Given the description of an element on the screen output the (x, y) to click on. 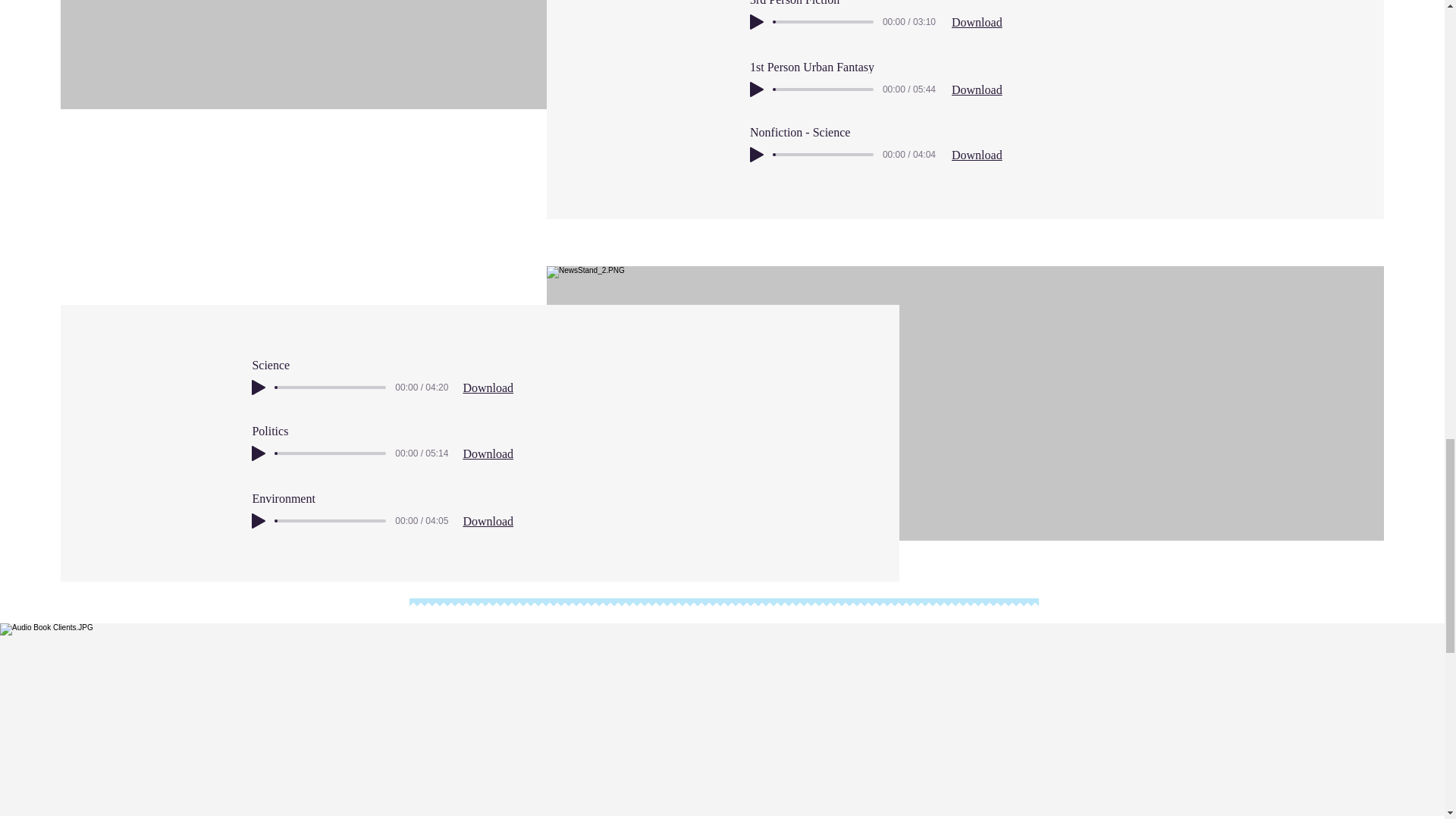
0 (823, 154)
0 (823, 21)
0 (823, 89)
Download (977, 21)
Download (977, 89)
Download (488, 453)
Download (977, 154)
Download (488, 387)
0 (330, 520)
0 (330, 453)
